Given the description of an element on the screen output the (x, y) to click on. 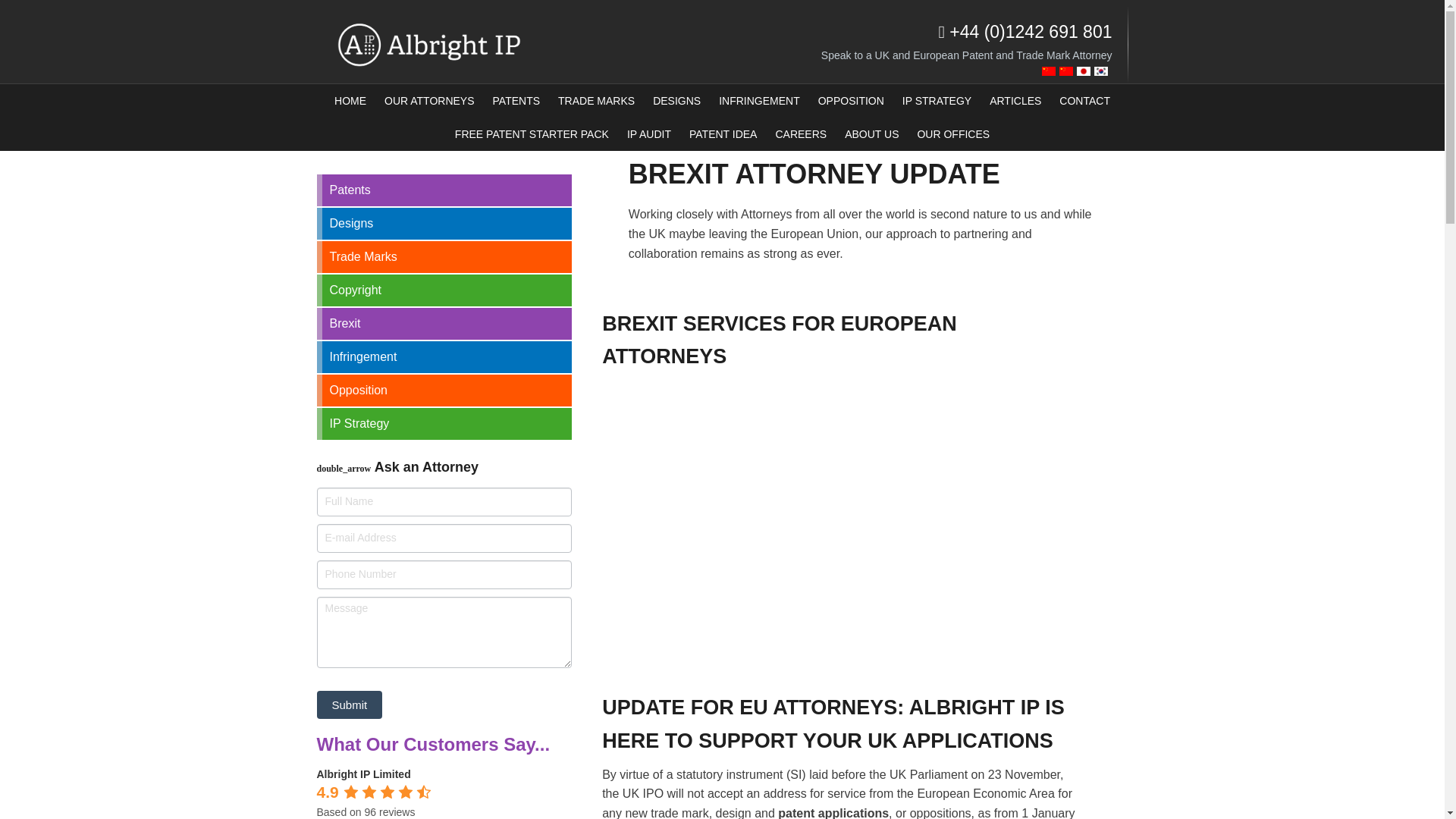
PATENTS (516, 100)
TRADE MARKS (595, 100)
HOME (349, 100)
OUR ATTORNEYS (429, 100)
DESIGNS (676, 100)
Submit (349, 705)
INFRINGEMENT (759, 100)
